Given the description of an element on the screen output the (x, y) to click on. 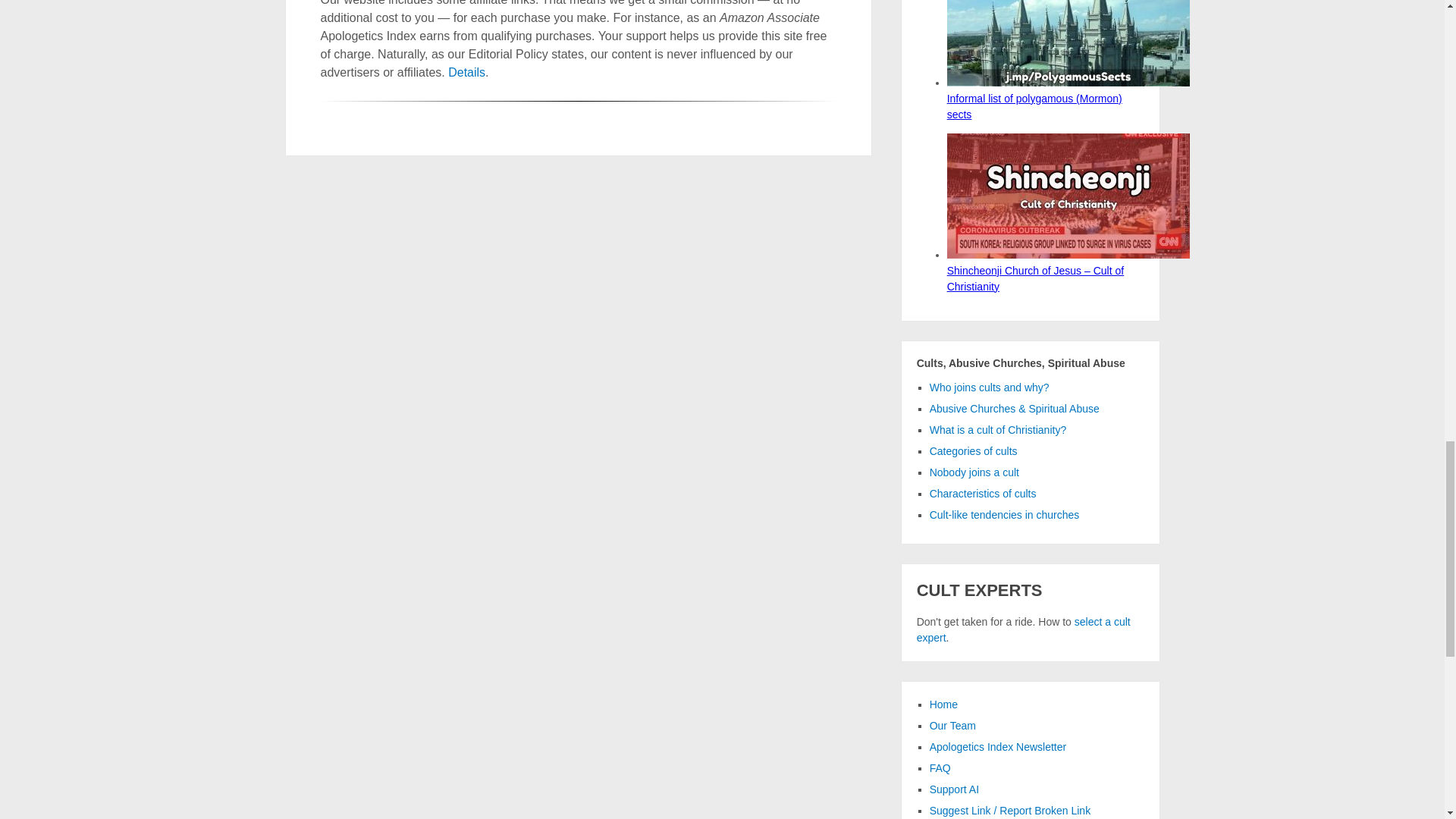
Newsletter (998, 746)
Who joins cults and why? (989, 387)
Details (466, 72)
